Given the description of an element on the screen output the (x, y) to click on. 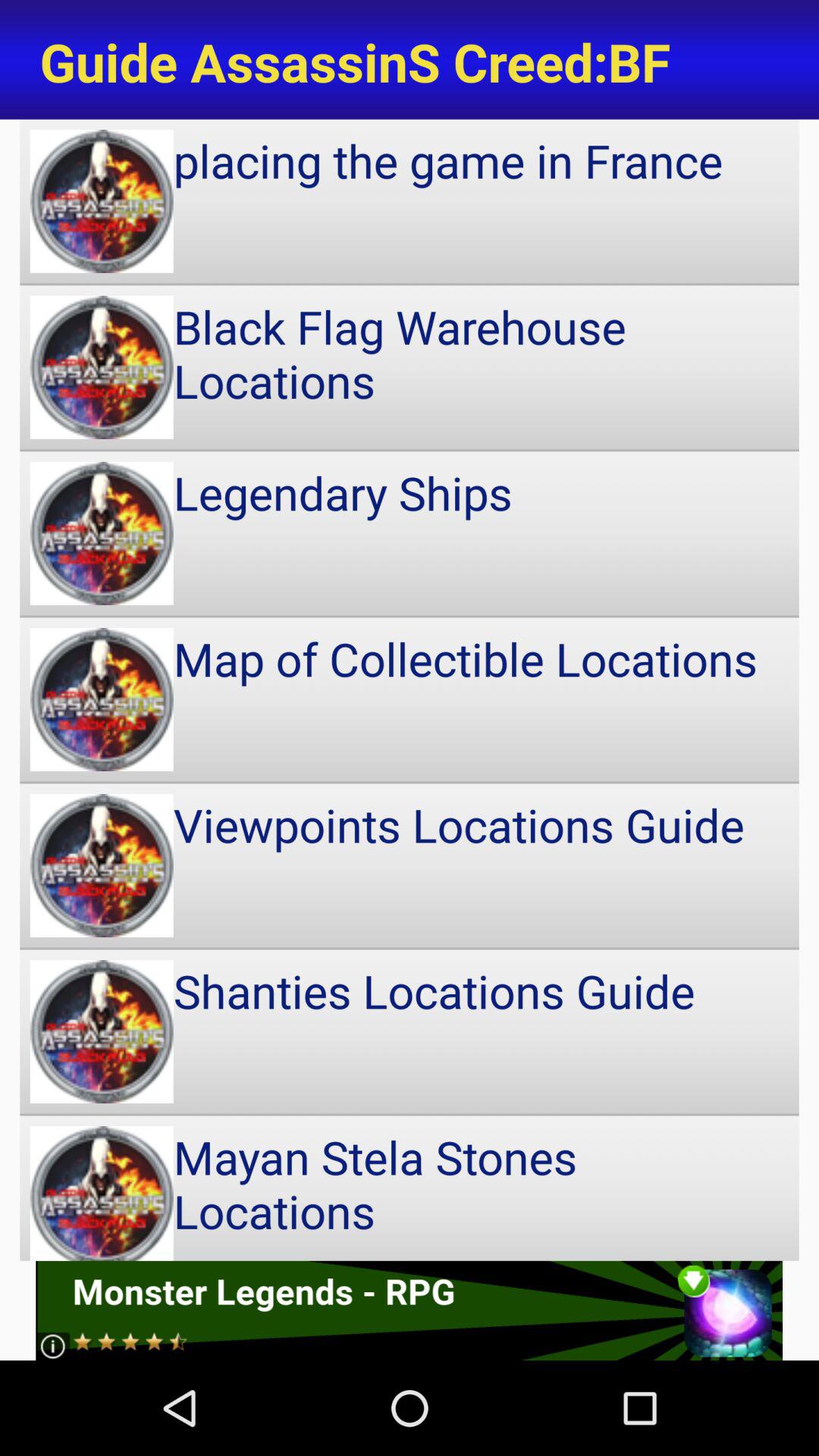
select the icon above mayan stela stones icon (409, 1031)
